Given the description of an element on the screen output the (x, y) to click on. 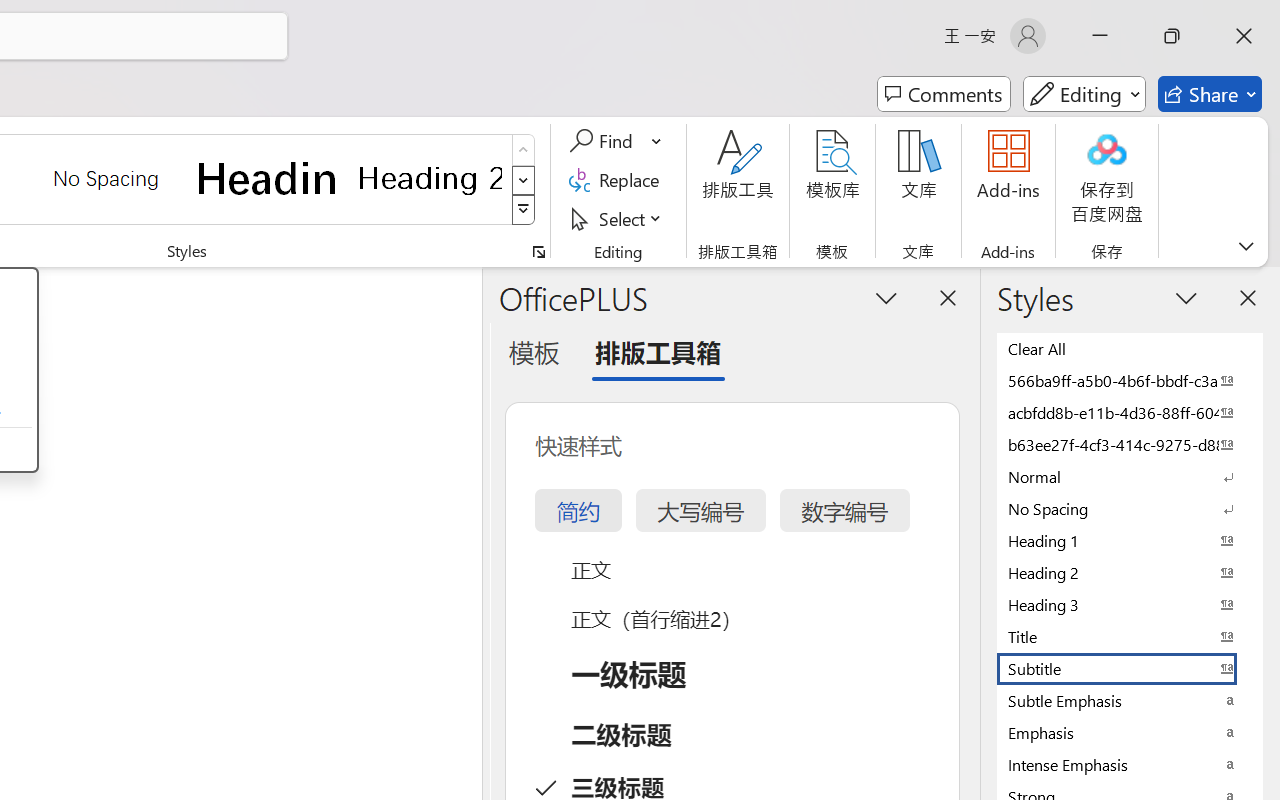
Customize Layout... (1128, 18)
Match Whole Word (Alt+W) (921, 119)
Next Match (Enter) (1066, 119)
Match Case (Alt+C) (899, 119)
Run Python File (1192, 58)
Find (812, 119)
